Given the description of an element on the screen output the (x, y) to click on. 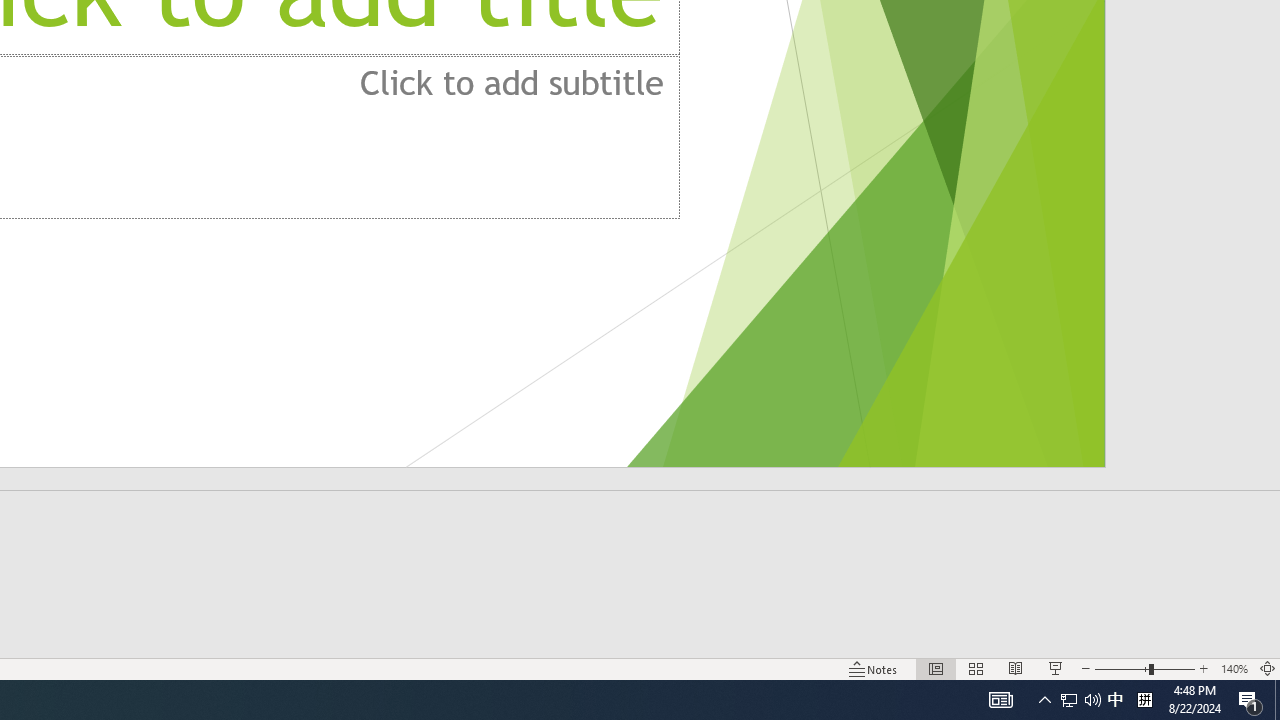
Slide Sorter (975, 668)
Normal (936, 668)
Zoom 140% (1234, 668)
Zoom Out (1121, 668)
Zoom (1144, 668)
Reading View (1015, 668)
Slide Show (1055, 668)
Notes  (874, 668)
Zoom In (1204, 668)
Zoom to Fit  (1267, 668)
